Given the description of an element on the screen output the (x, y) to click on. 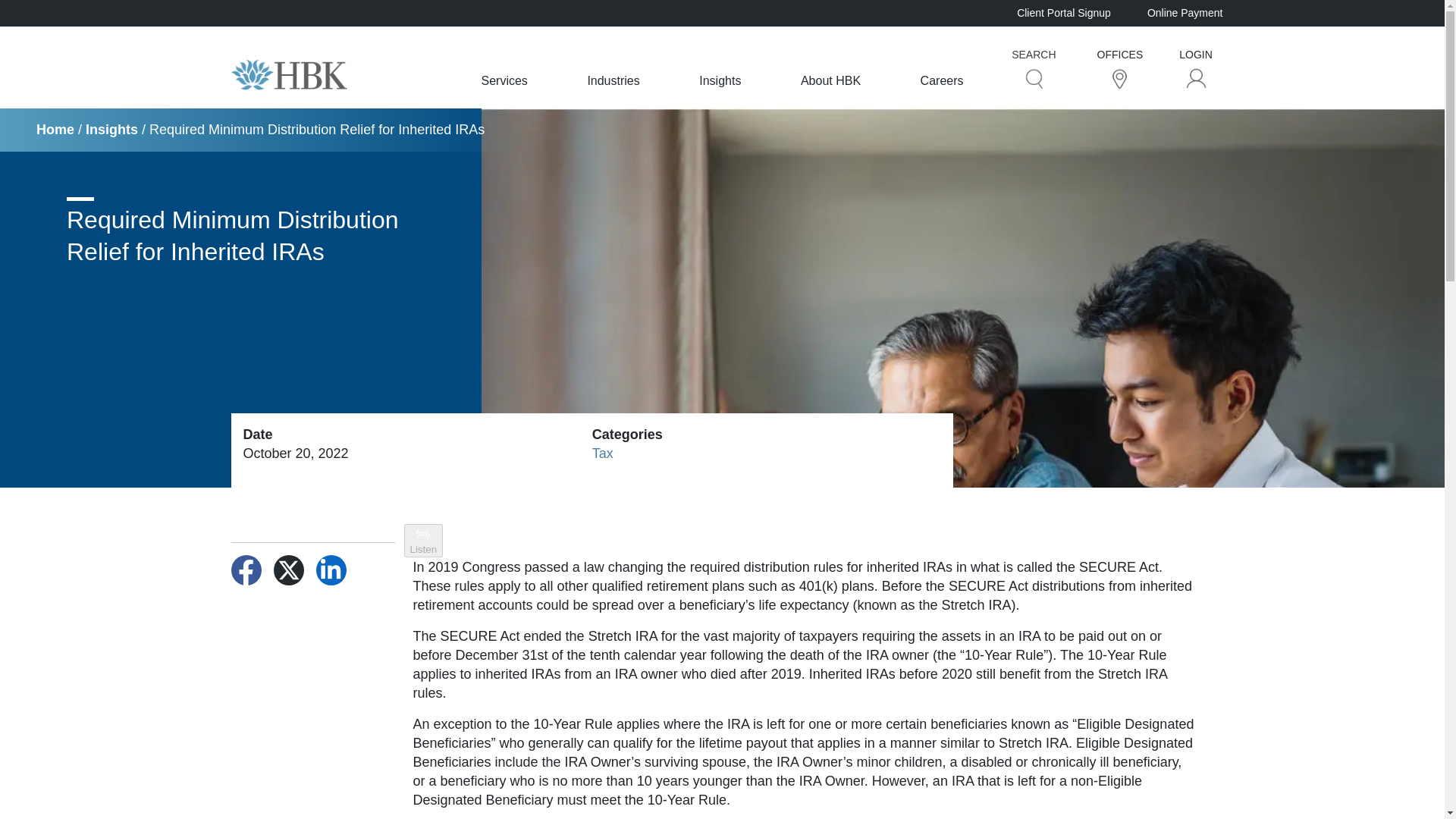
Insights (719, 80)
LOGIN (1195, 67)
Client Portal Signup (1063, 12)
Online Payment (1185, 12)
Offices (1119, 78)
Tax (602, 453)
About HBK (830, 80)
Careers (941, 80)
Services (503, 80)
Insights (111, 129)
SEARCH (1033, 67)
Login (1196, 78)
Home (55, 129)
OFFICES (1119, 67)
Industries (612, 80)
